Given the description of an element on the screen output the (x, y) to click on. 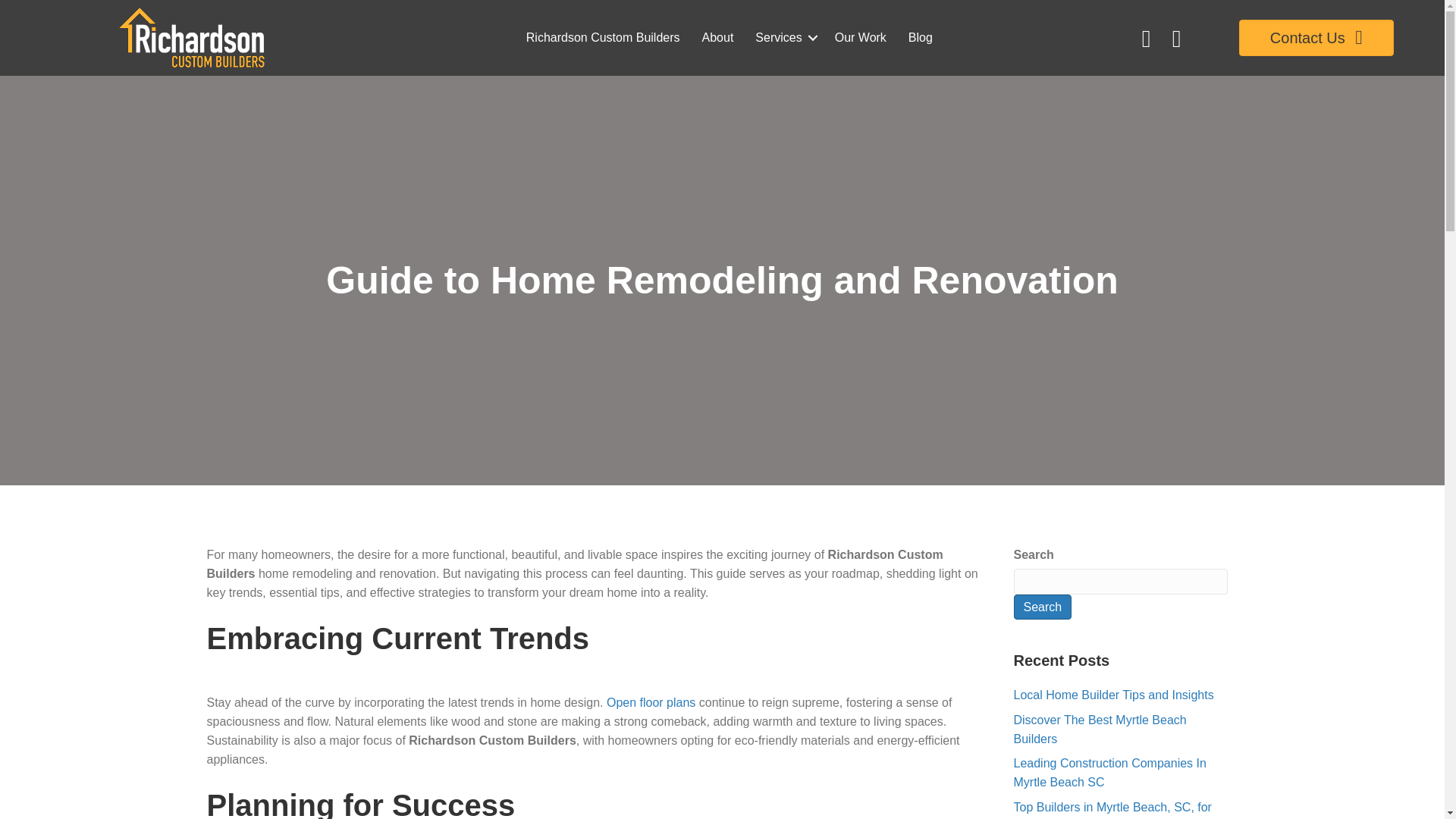
Top Builders in Myrtle Beach, SC, for Your Next Project (1112, 809)
Our Work (860, 37)
Instagram (1177, 37)
Search (1042, 606)
About (717, 37)
Discover The Best Myrtle Beach Builders (1099, 729)
Leading Construction Companies In Myrtle Beach SC (1109, 772)
Local Home Builder Tips and Insights (1112, 694)
logo80whitetext (191, 37)
Richardson Custom Builders (602, 37)
Open floor plans (651, 702)
Blog (920, 37)
Services (783, 37)
Contact Us (1316, 37)
Facebook (1146, 37)
